Given the description of an element on the screen output the (x, y) to click on. 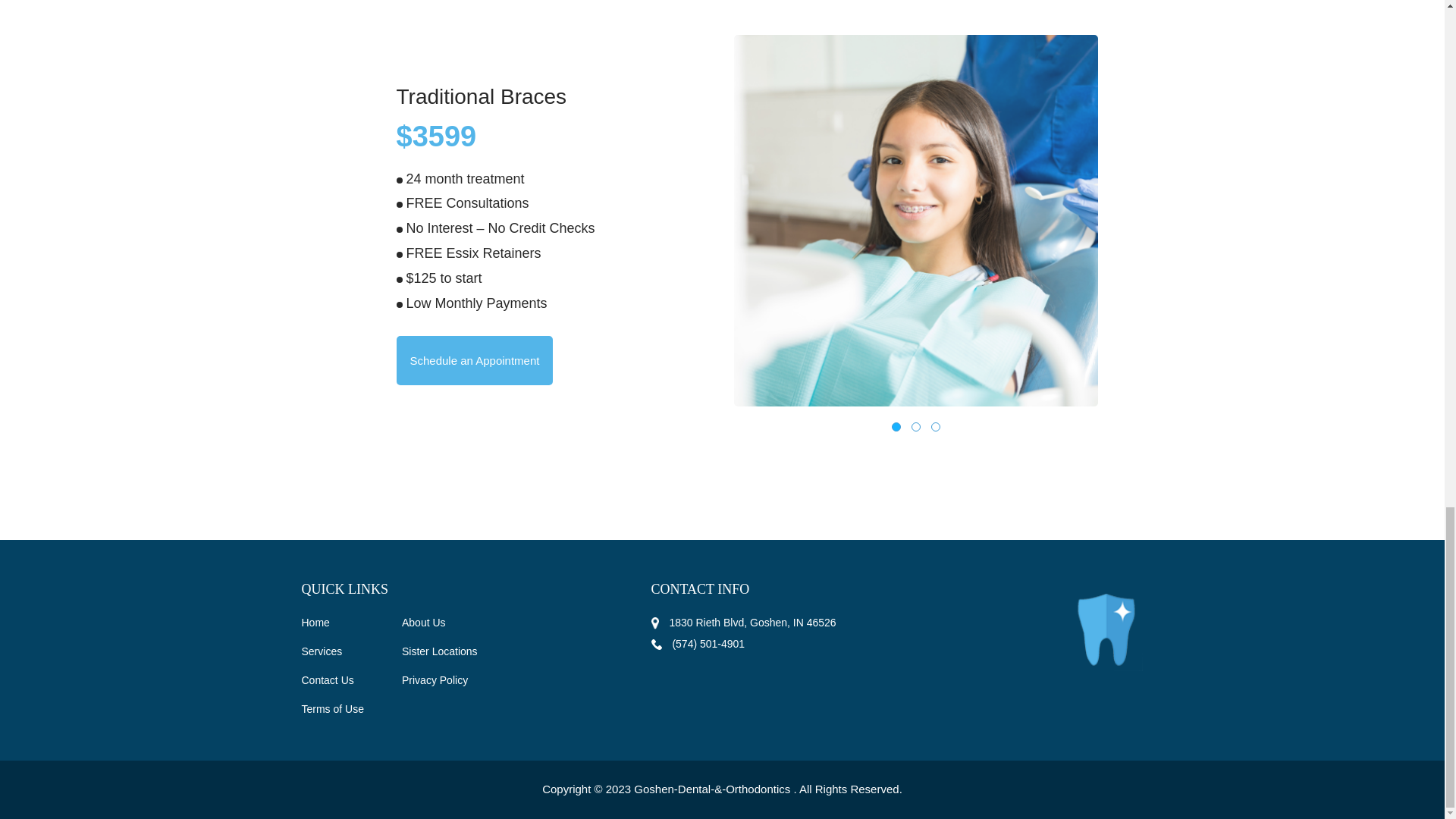
Terms of Use (332, 708)
1830 Rieth Blvd, Goshen, IN 46526 (742, 622)
Services (321, 651)
Home (315, 622)
Sister Locations (439, 651)
Contact Us (327, 680)
About Us (423, 622)
Privacy Policy (434, 680)
Schedule an Appointment (474, 359)
